Given the description of an element on the screen output the (x, y) to click on. 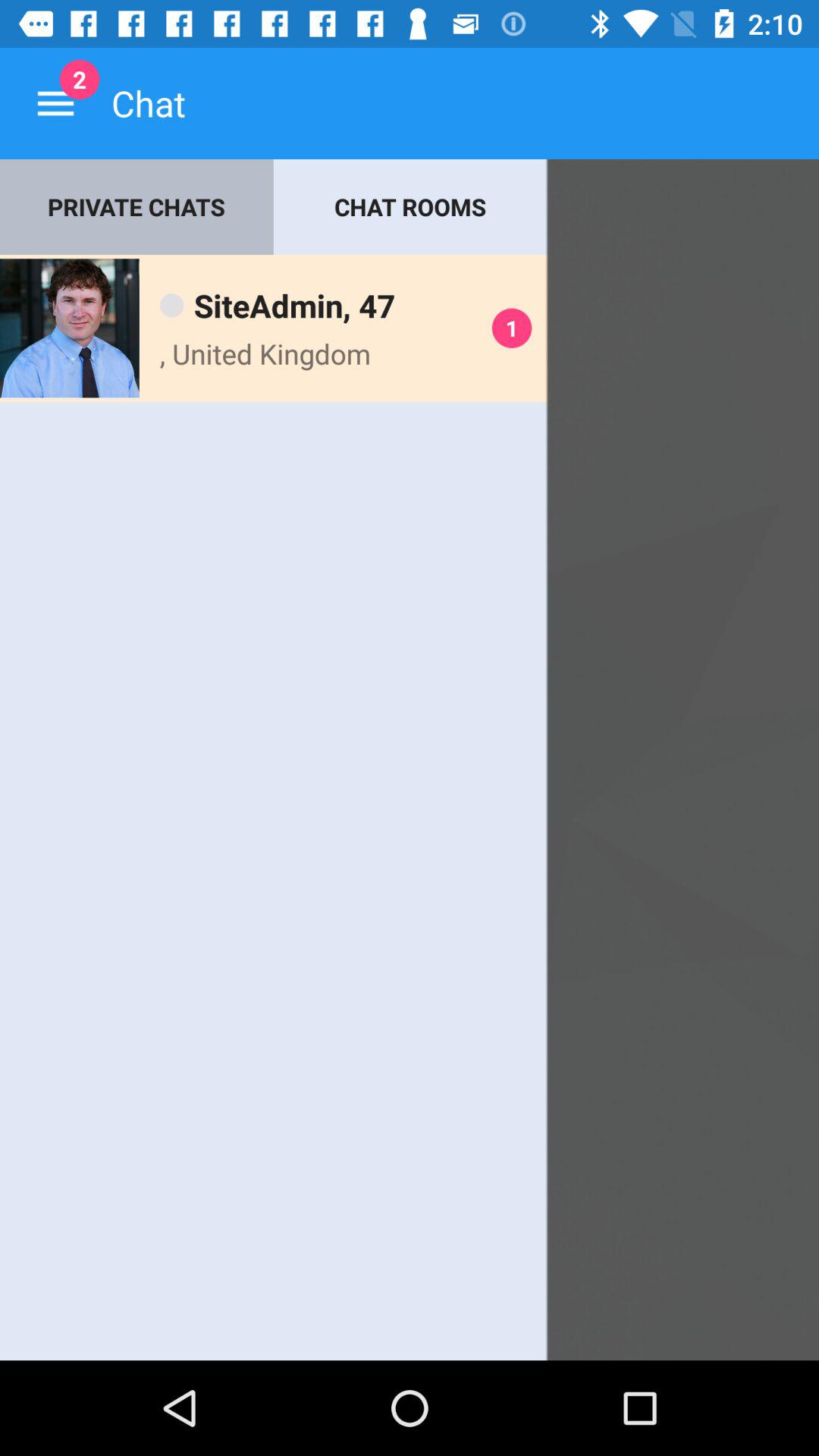
launch icon next to the chat (55, 103)
